Given the description of an element on the screen output the (x, y) to click on. 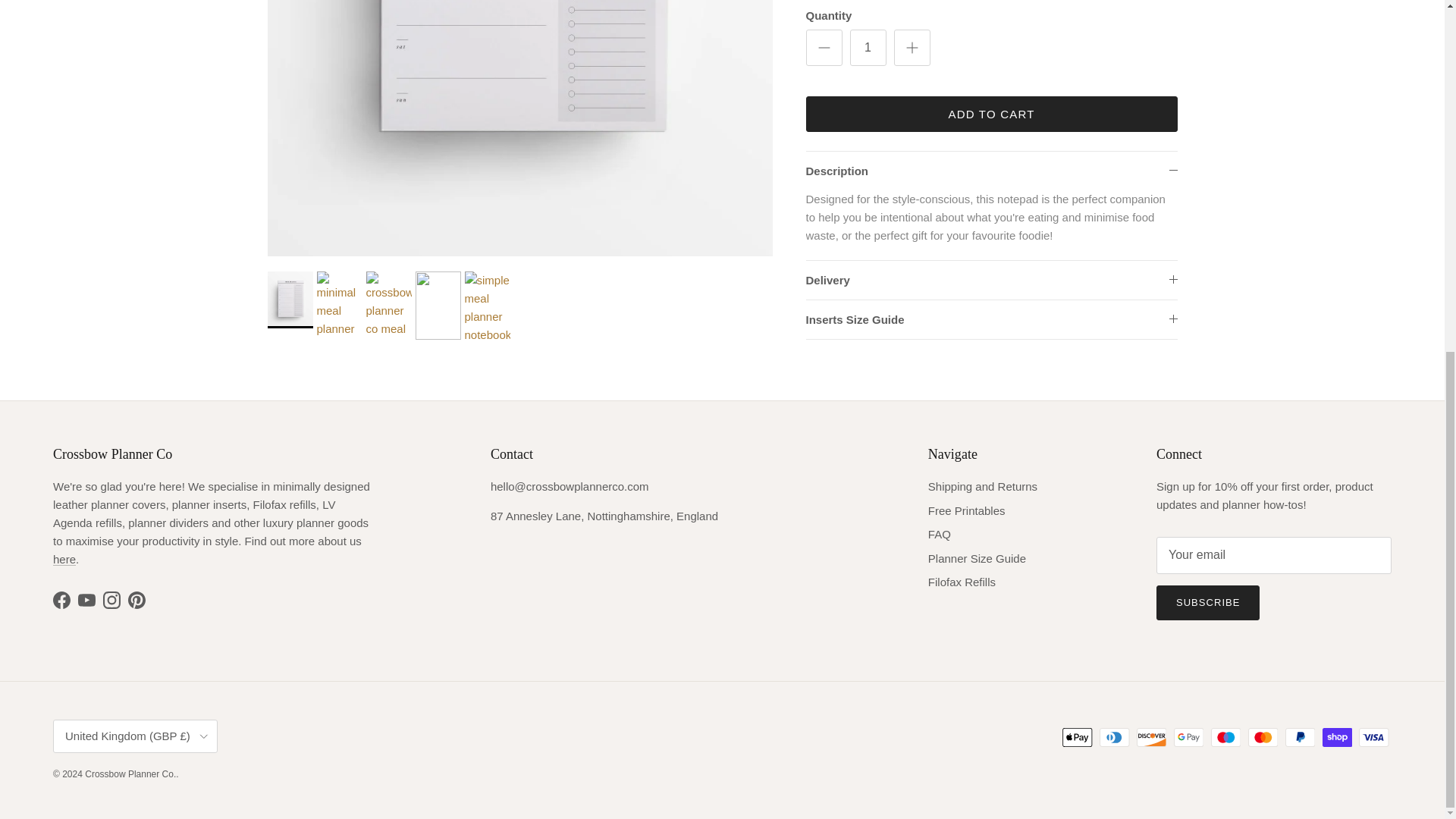
About new (63, 558)
Crossbow Planner Co. on Facebook (60, 600)
Crossbow Planner Co. on Instagram (111, 600)
Crossbow Planner Co. on Pinterest (136, 600)
Crossbow Planner Co. on YouTube (87, 600)
